Given the description of an element on the screen output the (x, y) to click on. 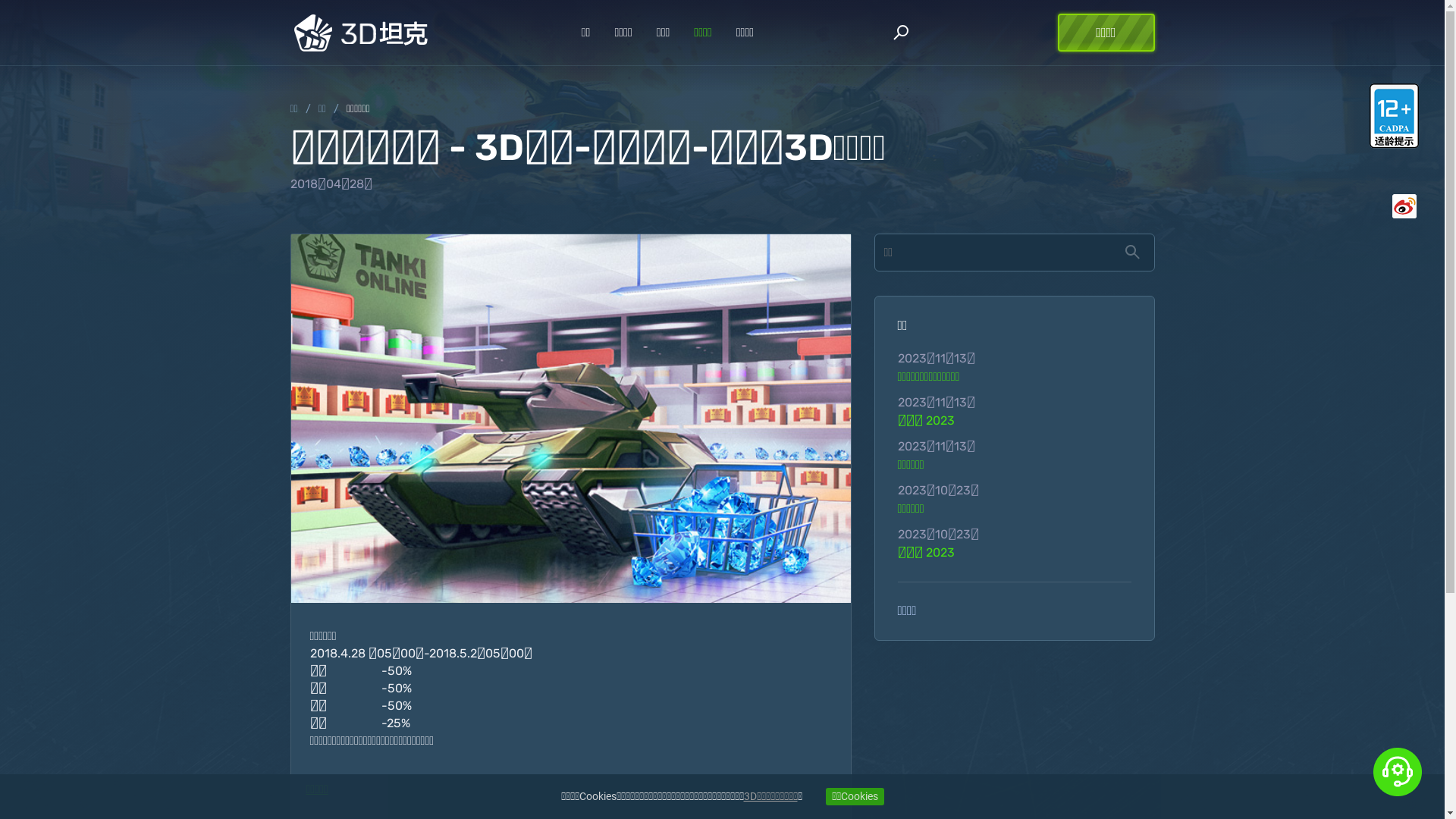
                    Element type: text (4, 9)
